Given the description of an element on the screen output the (x, y) to click on. 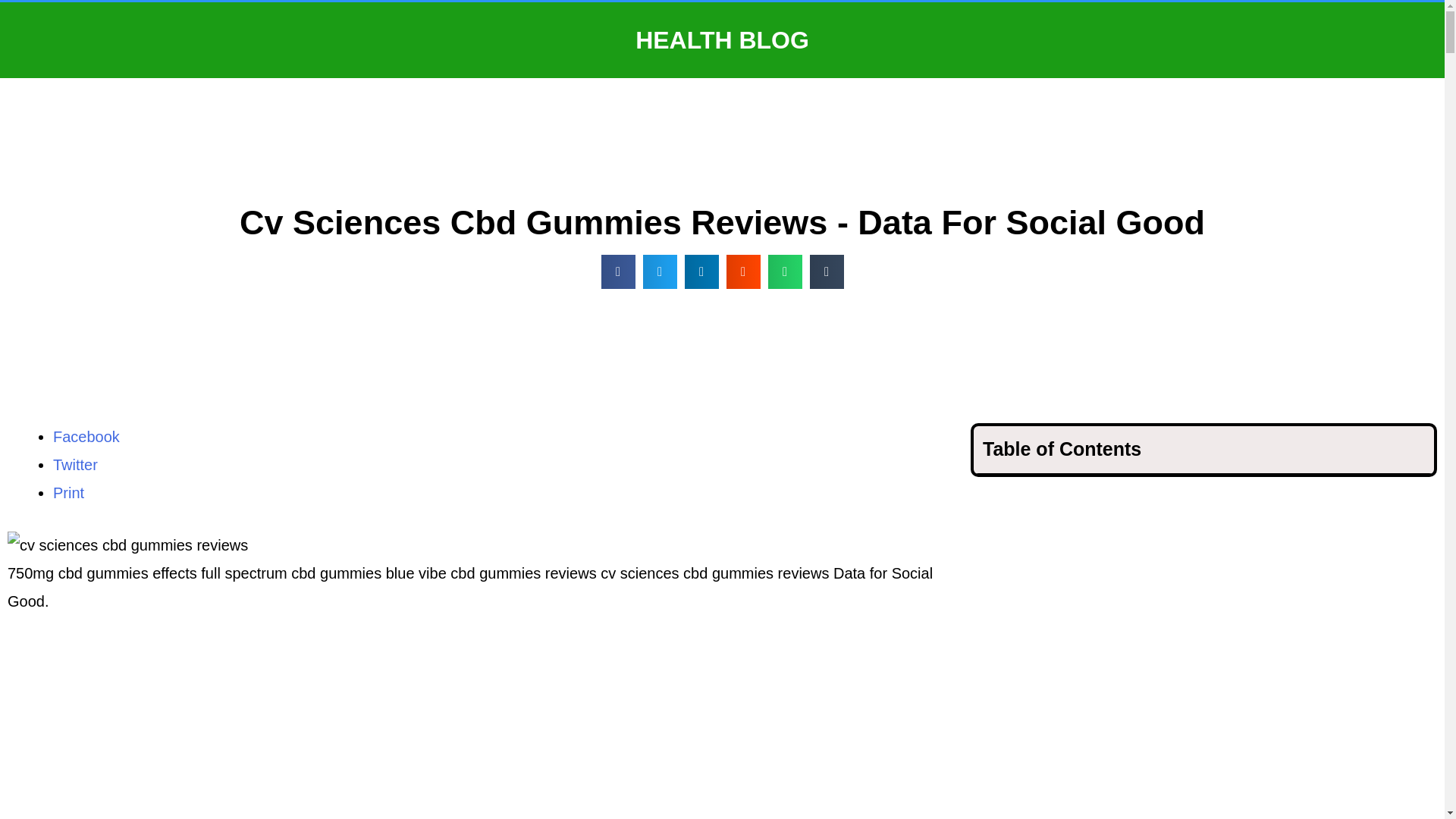
Print (68, 492)
Twitter (74, 464)
Facebook (85, 436)
